Given the description of an element on the screen output the (x, y) to click on. 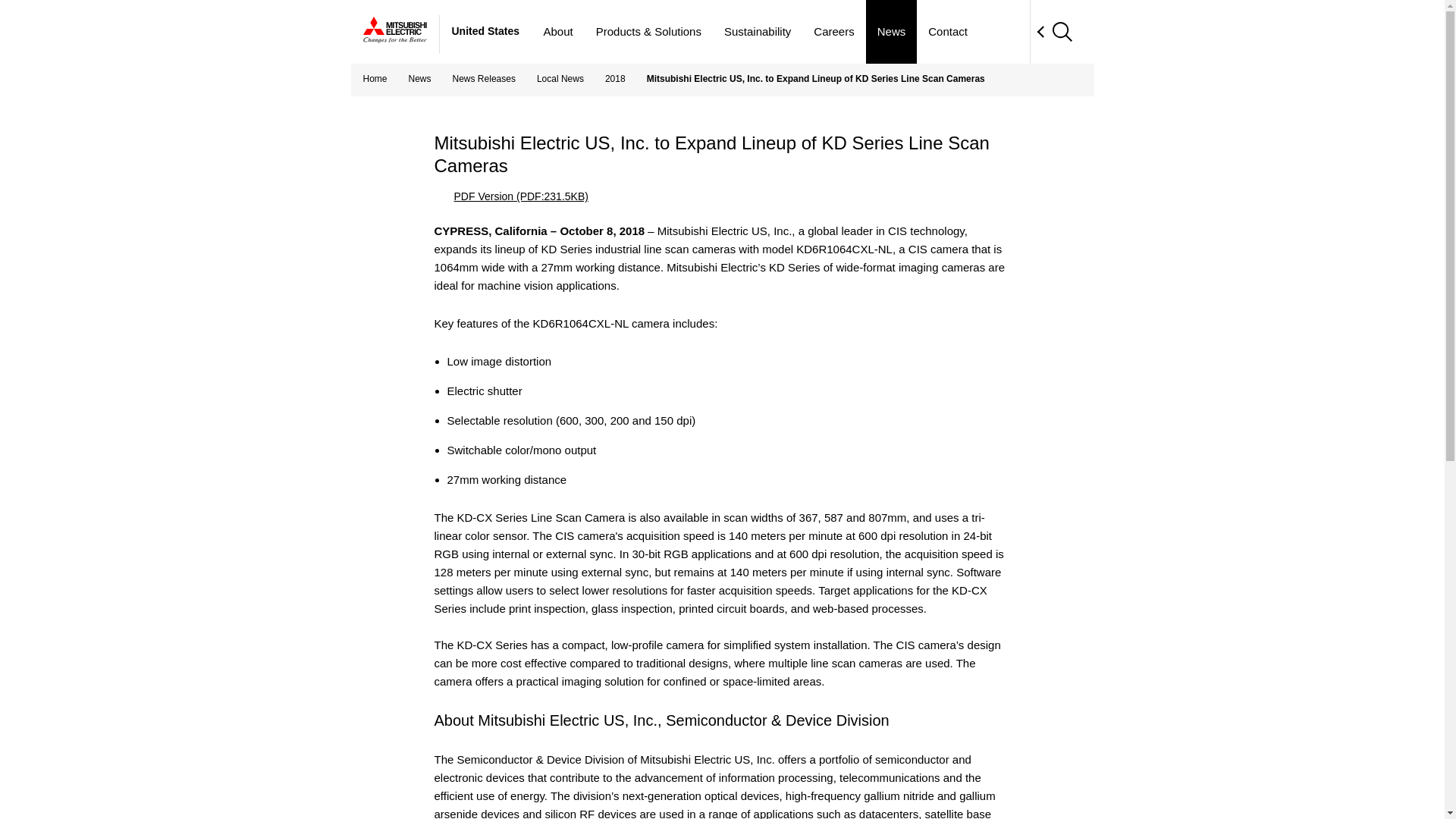
Global Sites (1006, 31)
About (558, 31)
